Given the description of an element on the screen output the (x, y) to click on. 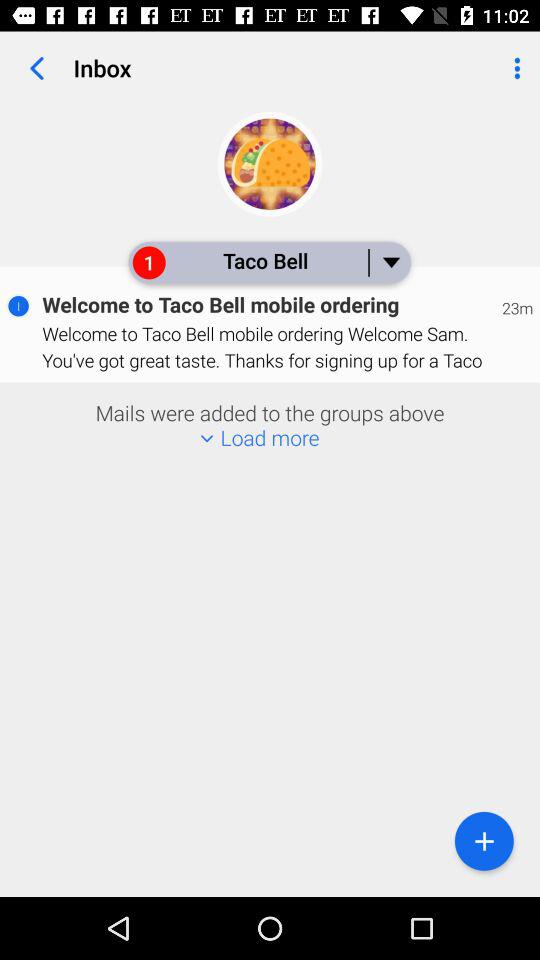
turn off the icon at the bottom right corner (483, 840)
